Given the description of an element on the screen output the (x, y) to click on. 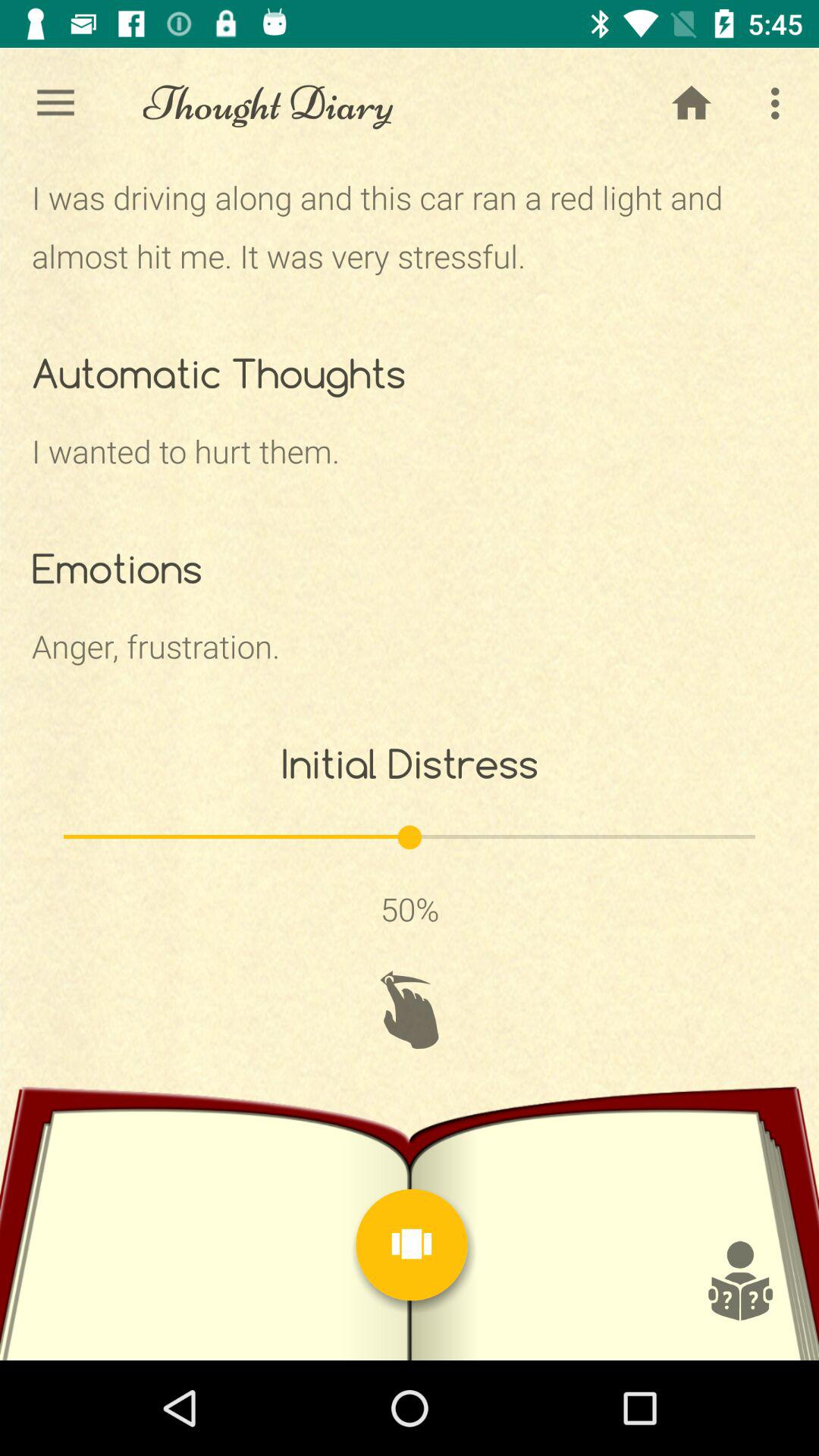
next page (411, 1244)
